Given the description of an element on the screen output the (x, y) to click on. 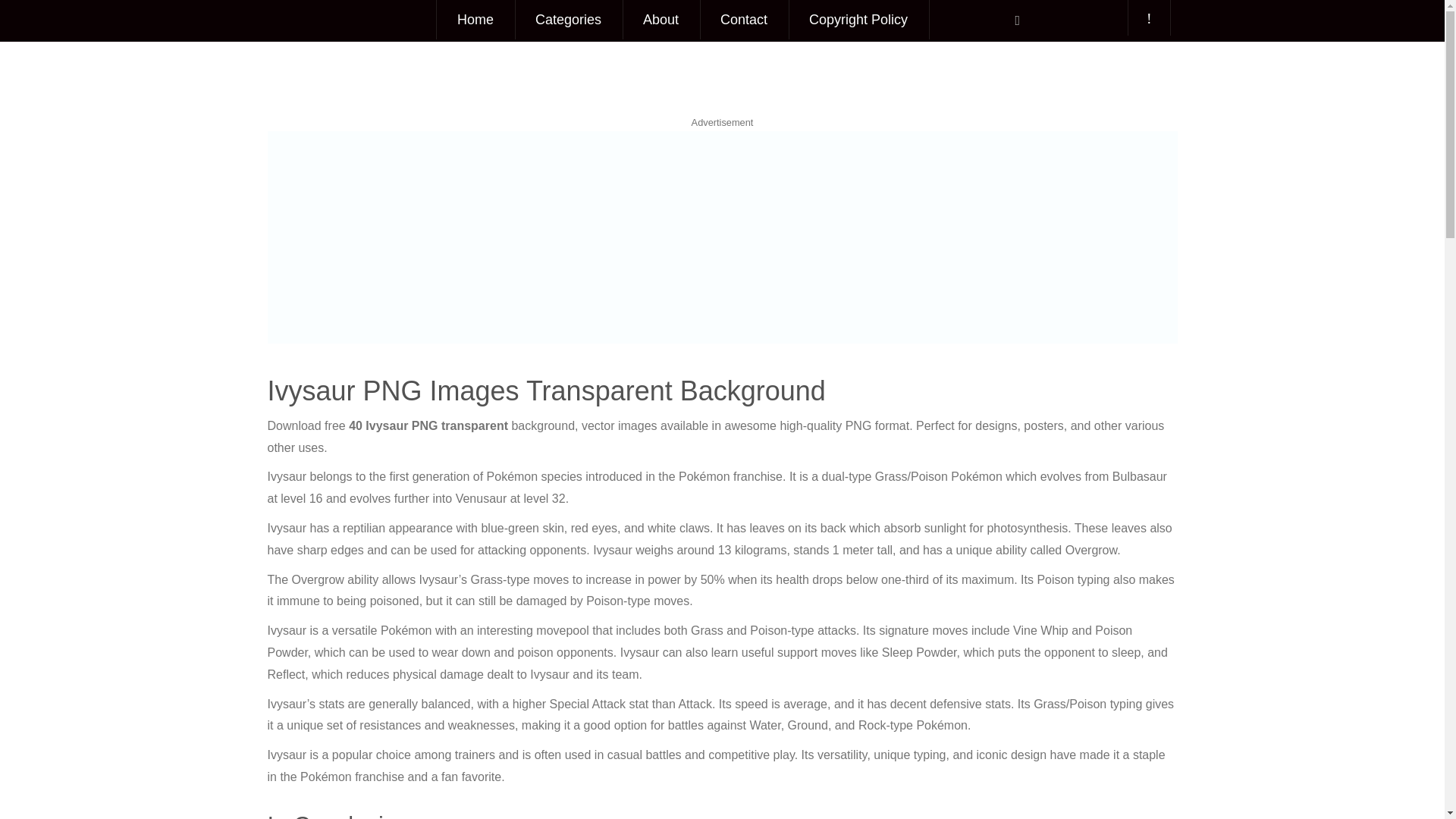
Categories (568, 19)
Copyright Policy (858, 19)
About (660, 19)
Home (474, 19)
Contact (743, 19)
